Given the description of an element on the screen output the (x, y) to click on. 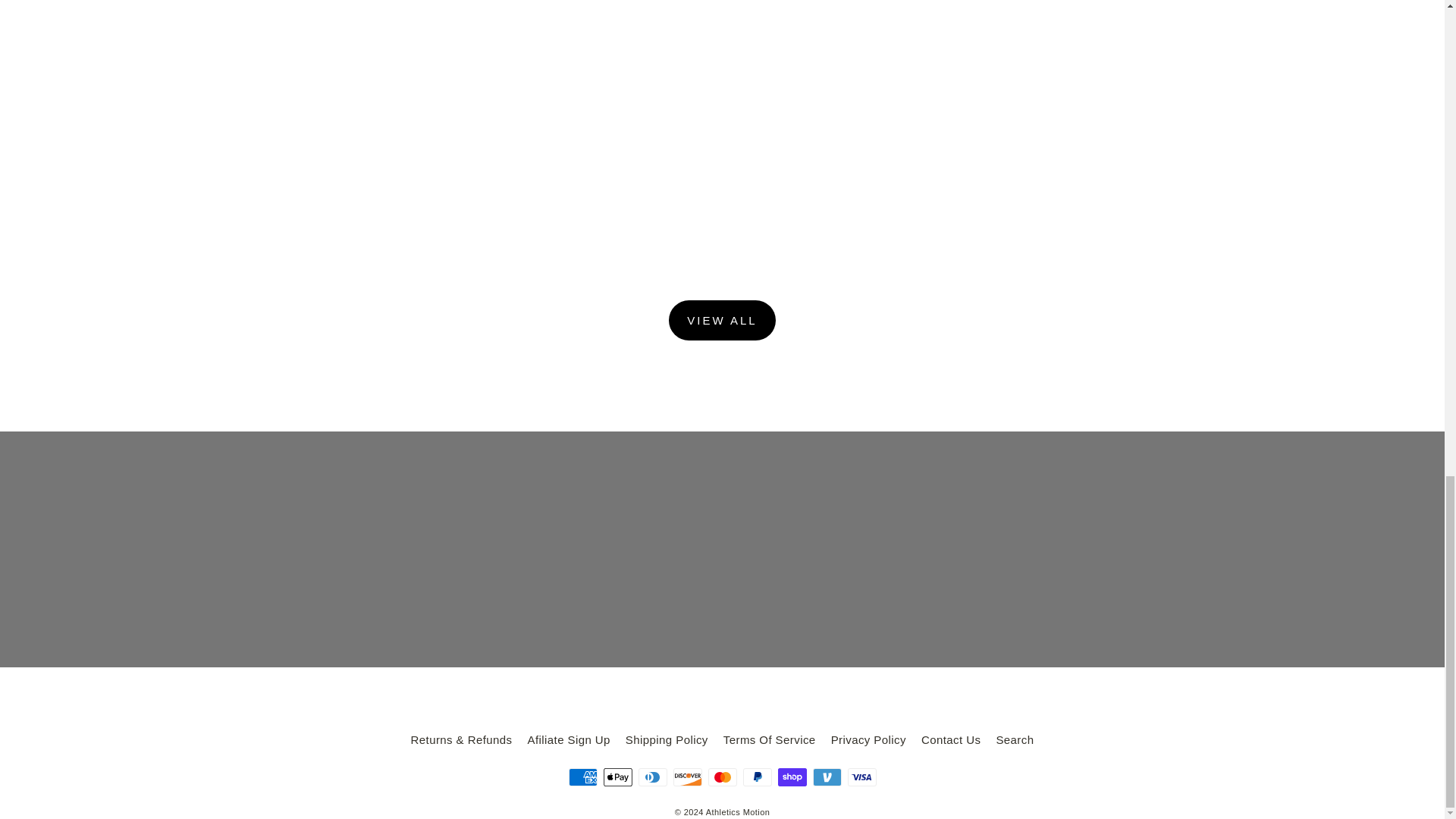
American Express (582, 777)
Apple Pay (617, 777)
Discover (686, 777)
Diners Club (652, 777)
PayPal (756, 777)
Mastercard (721, 777)
Venmo (826, 777)
Shop Pay (791, 777)
Visa (861, 777)
